Given the description of an element on the screen output the (x, y) to click on. 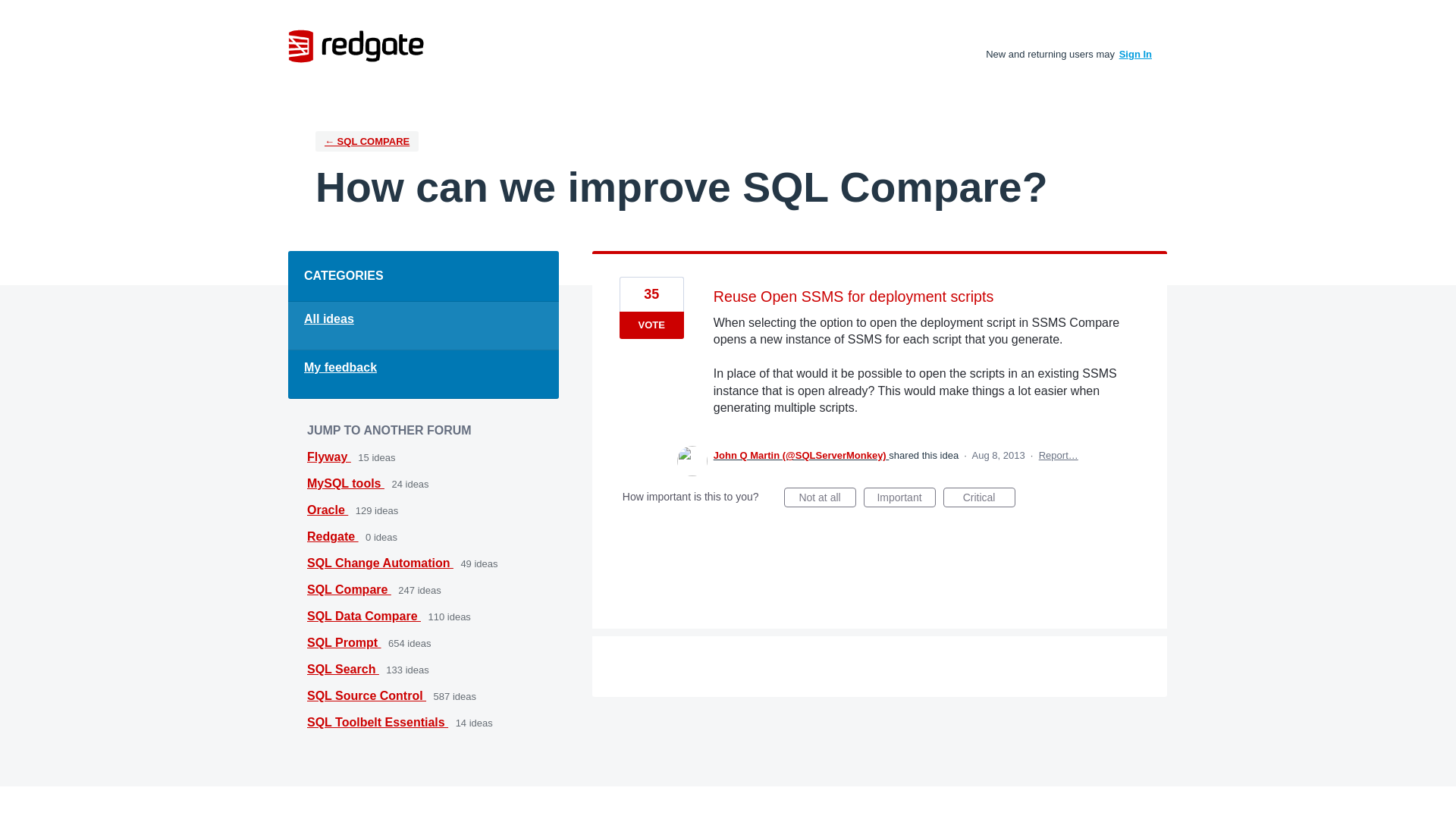
View all ideas in SQL Data Compare (363, 615)
View all ideas in Redgate (332, 535)
View all ideas in SQL Toolbelt Essentials (377, 721)
View all ideas in MySQL tools (345, 482)
View all ideas in Flyway (328, 456)
Customer Feedback for Redgate (356, 45)
SQL Data Compare (363, 615)
View all ideas in SQL Search (342, 668)
SQL Toolbelt Essentials (377, 721)
Skip to content (12, 12)
